Given the description of an element on the screen output the (x, y) to click on. 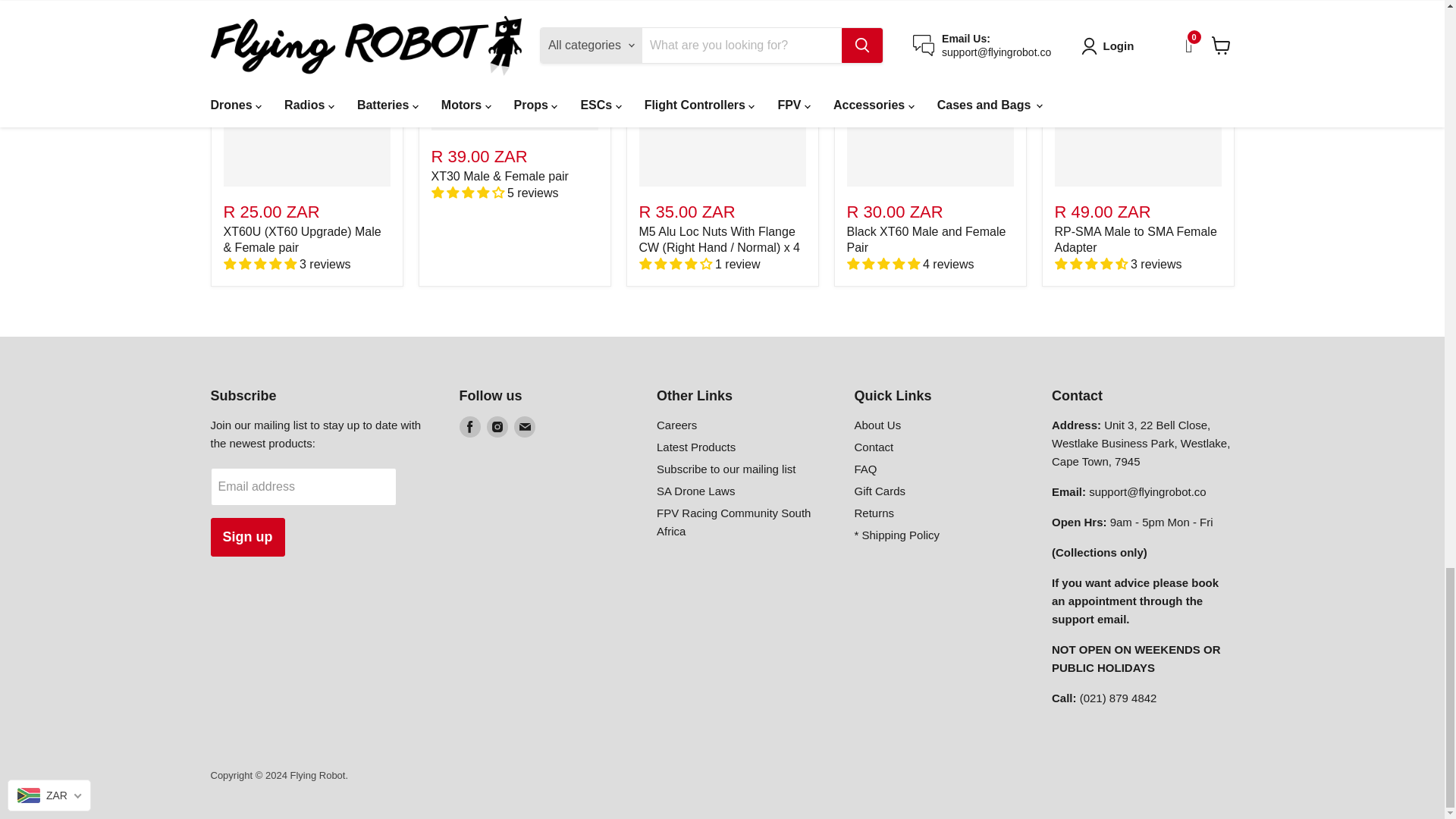
Email (524, 426)
Instagram (497, 426)
Facebook (470, 426)
